Given the description of an element on the screen output the (x, y) to click on. 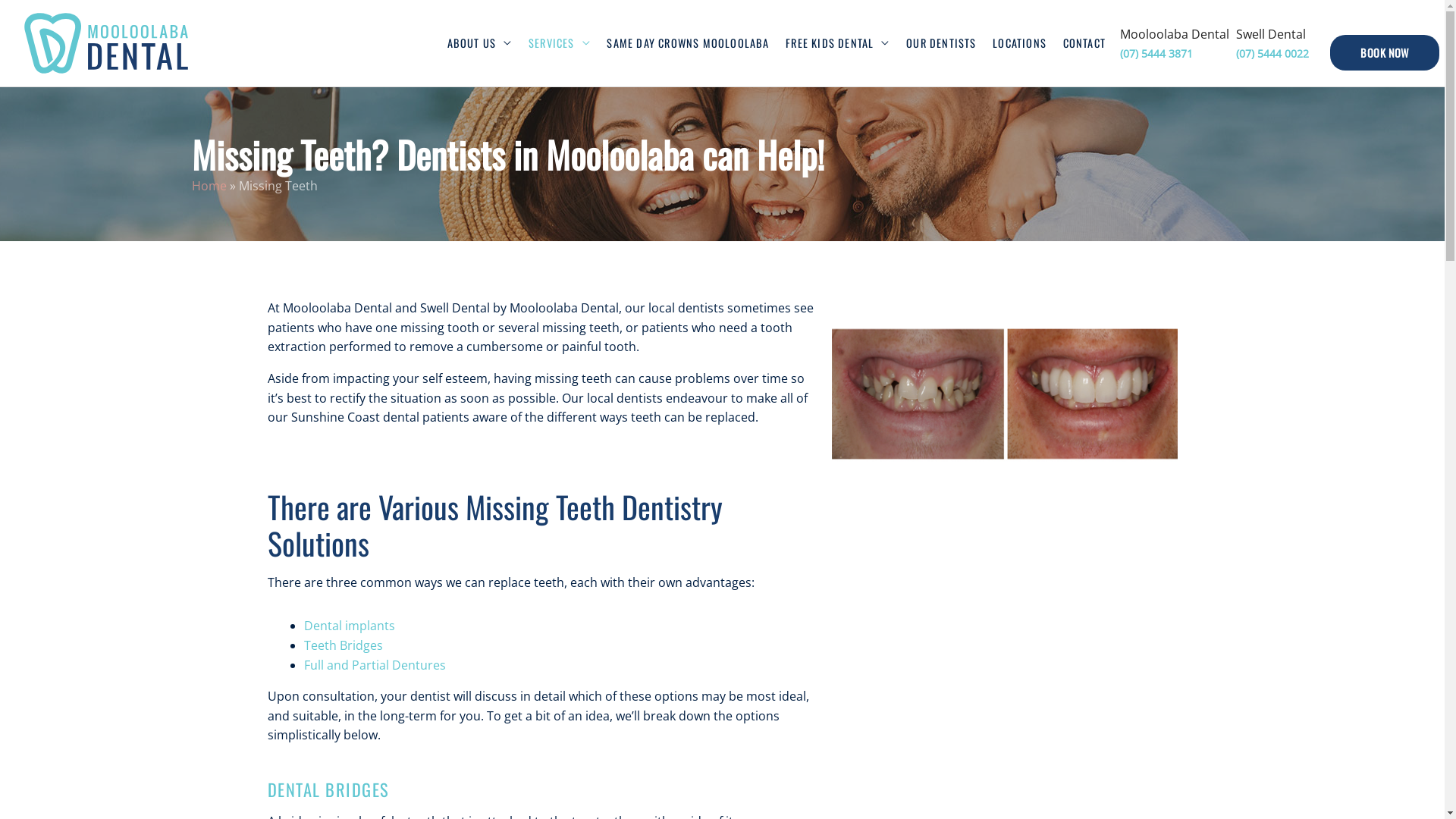
CONTACT Element type: text (1083, 43)
Home Element type: text (208, 185)
Teeth Bridges Element type: text (342, 645)
(07) 5444 3871 Element type: text (1174, 53)
FREE KIDS DENTAL Element type: text (837, 43)
Full and Partial Dentures Element type: text (374, 664)
BOOK NOW Element type: text (1384, 52)
LOCATIONS Element type: text (1019, 43)
SAME DAY CROWNS MOOLOOLABA Element type: text (688, 43)
ABOUT US Element type: text (479, 43)
OUR DENTISTS Element type: text (940, 43)
SERVICES Element type: text (559, 43)
(07) 5444 0022 Element type: text (1280, 53)
Dental implants Element type: text (348, 625)
